Given the description of an element on the screen output the (x, y) to click on. 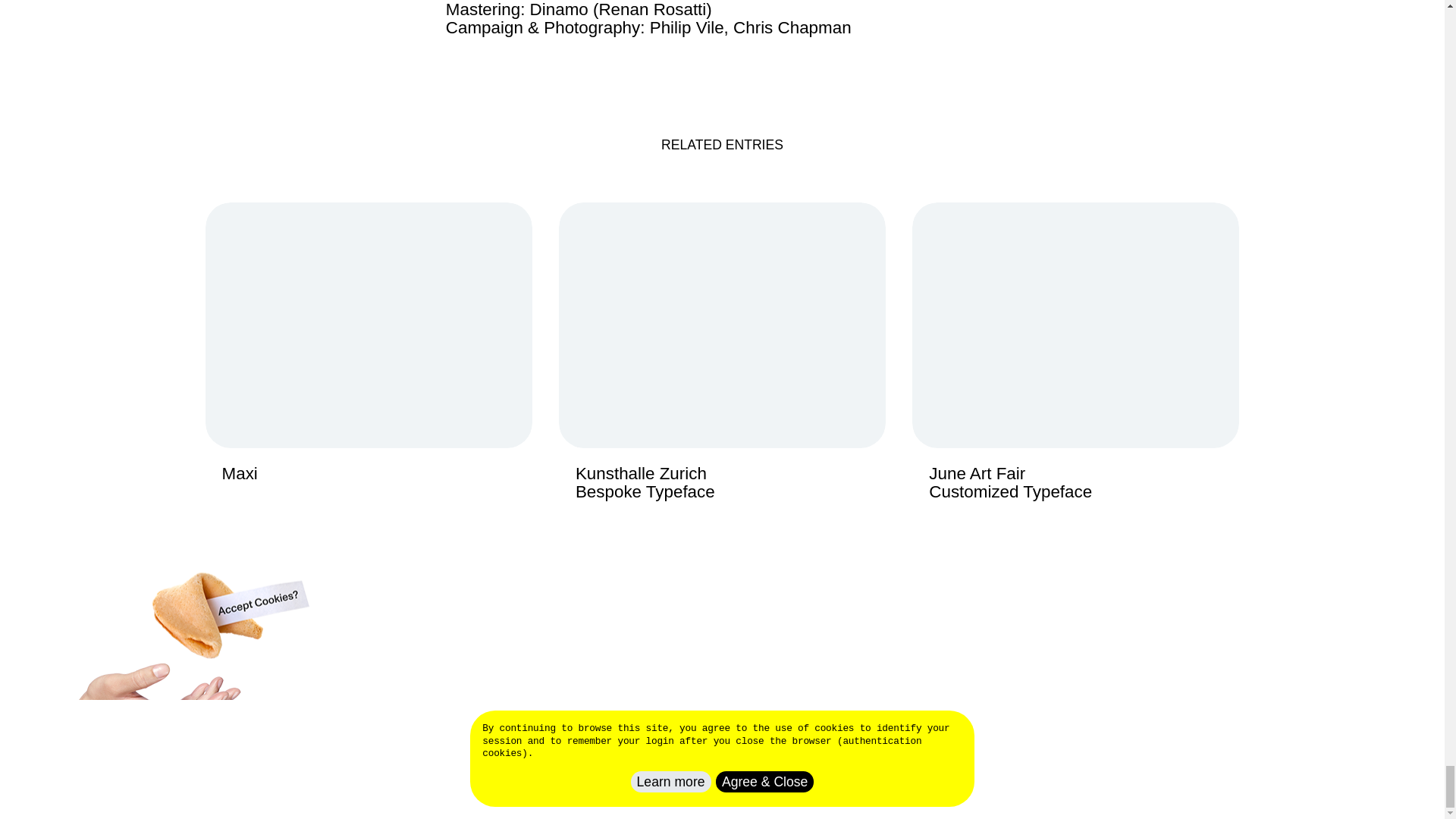
Maxi (722, 360)
